Given the description of an element on the screen output the (x, y) to click on. 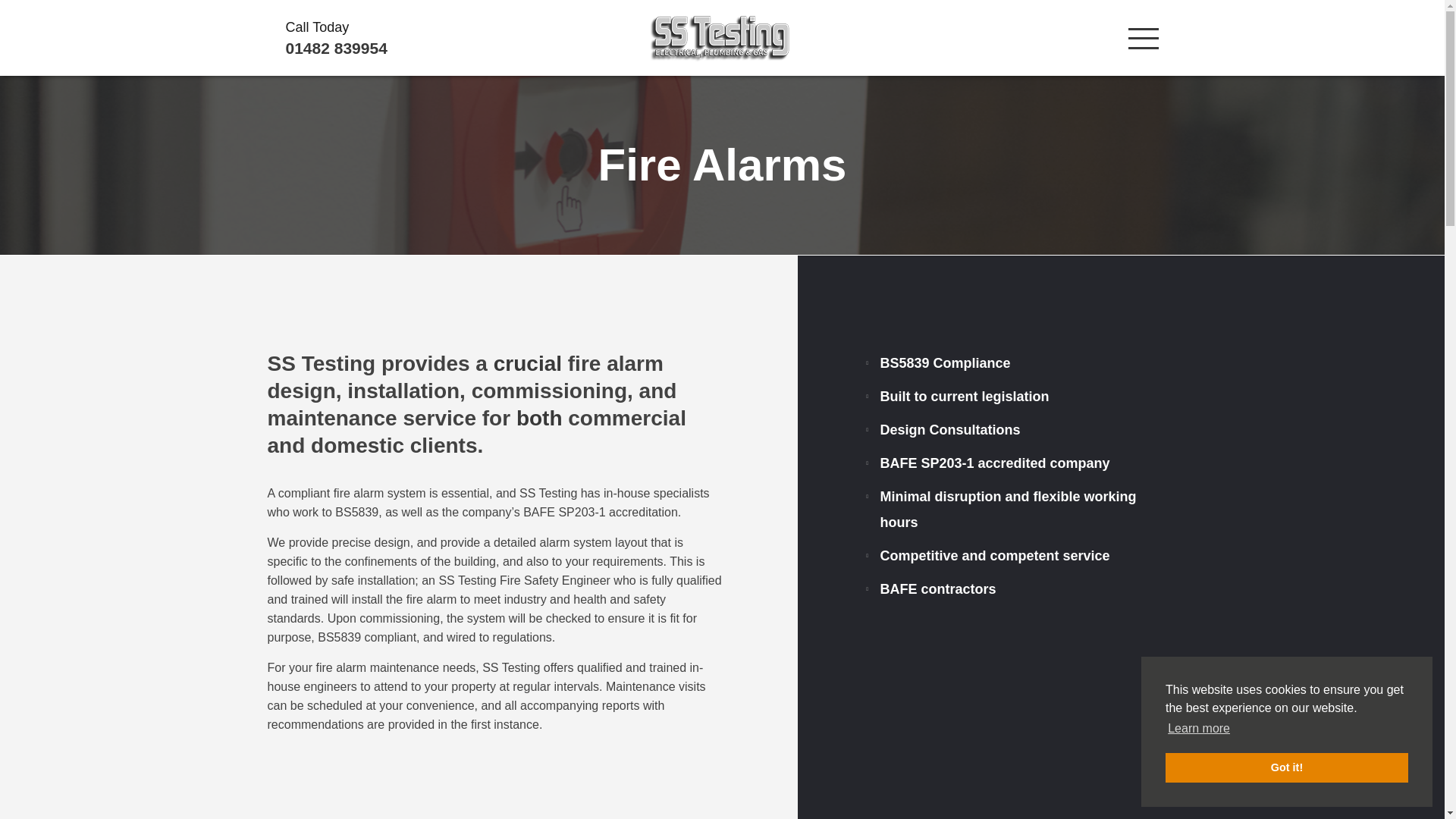
01482 839954 (422, 47)
Learn more (1198, 728)
Got it! (1286, 767)
